Given the description of an element on the screen output the (x, y) to click on. 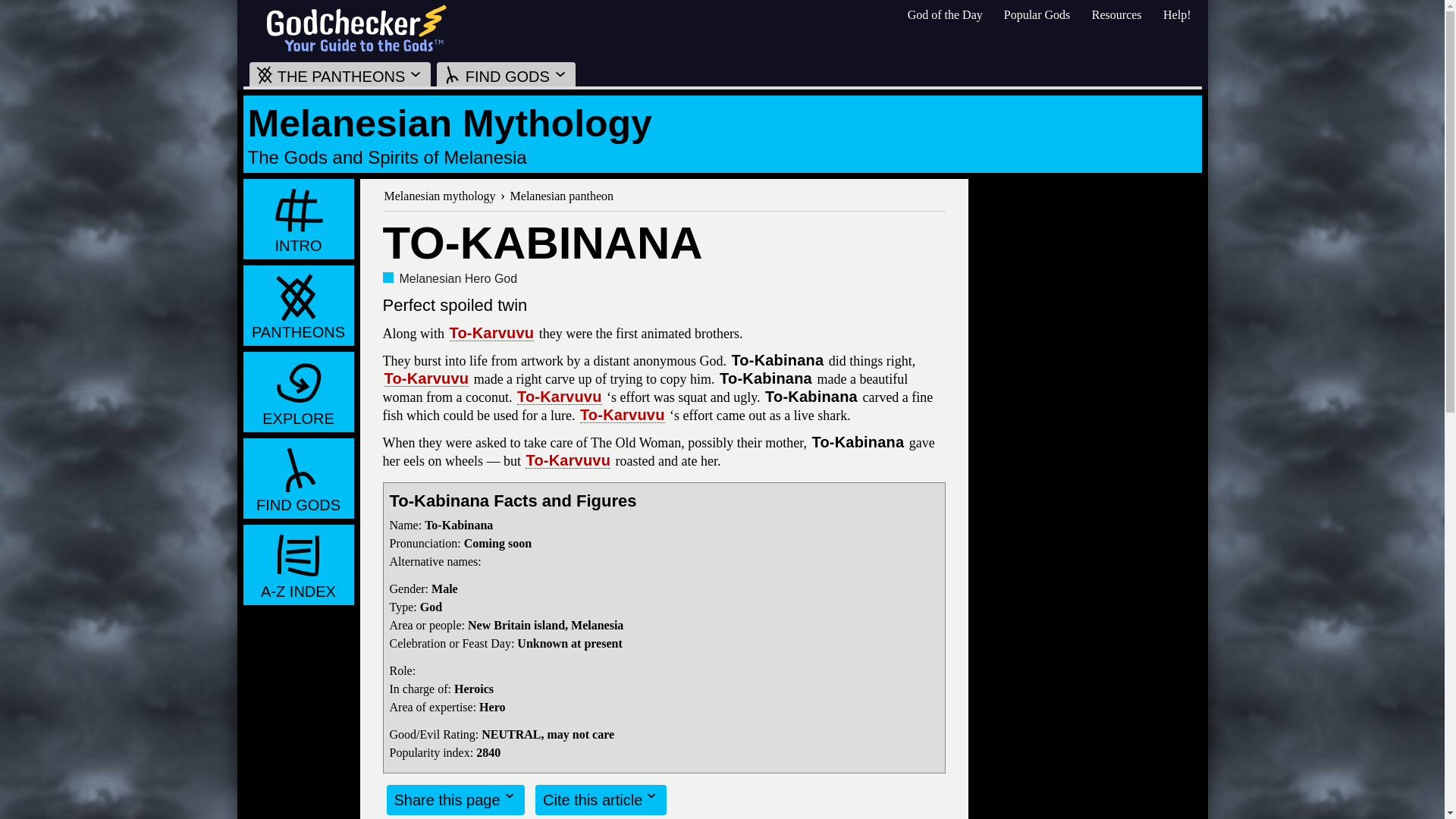
FIND GODS (505, 74)
God of the Day (944, 14)
Resources (1116, 14)
THE PANTHEONS (339, 74)
Popular Gods (1037, 14)
Help! (1176, 14)
